Given the description of an element on the screen output the (x, y) to click on. 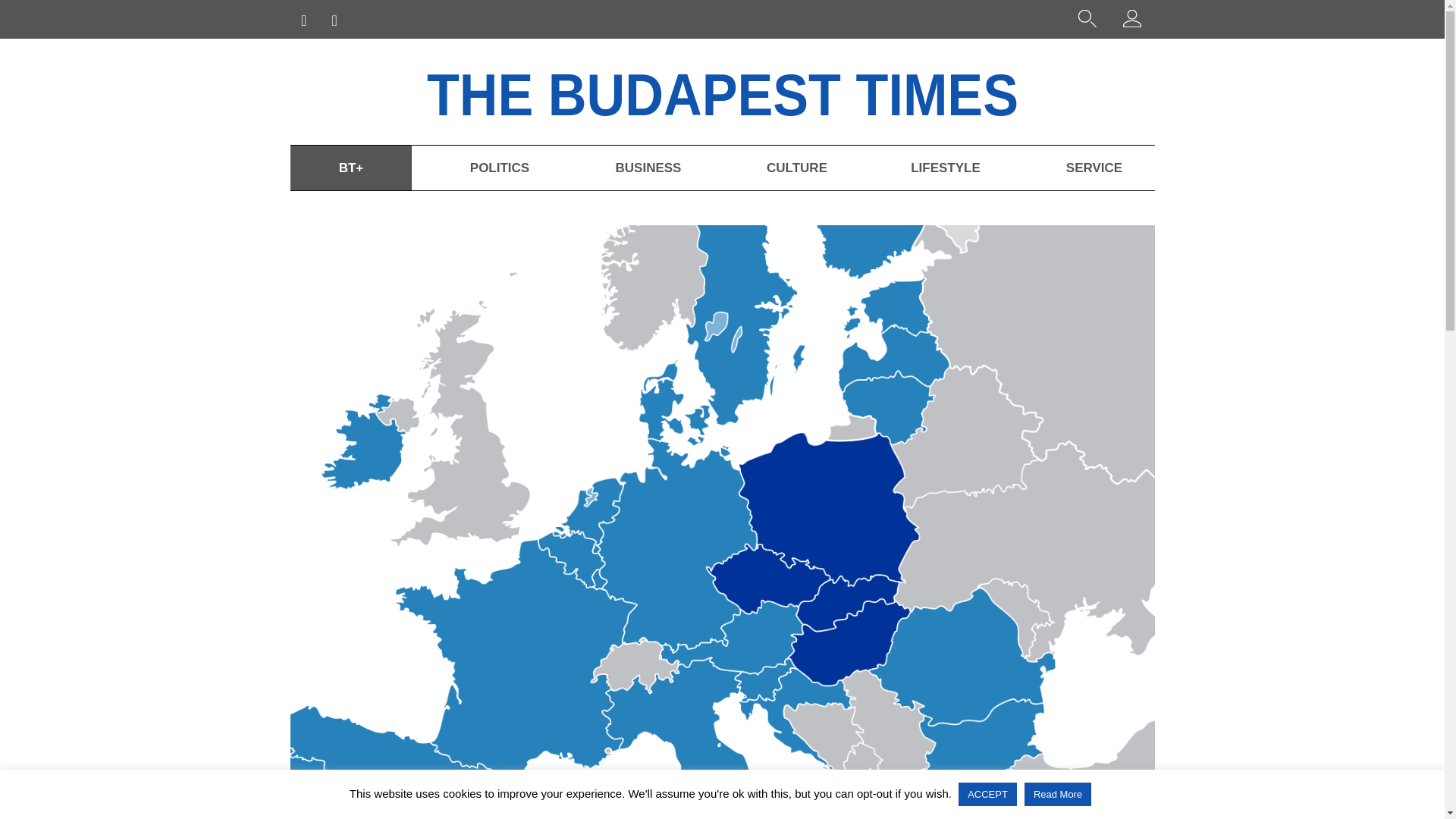
LIFESTYLE (944, 167)
BUSINESS (646, 167)
THE BUDAPEST TIMES (765, 91)
Login (1131, 20)
CULTURE (796, 167)
POLITICS (498, 167)
SERVICE (1093, 167)
